Given the description of an element on the screen output the (x, y) to click on. 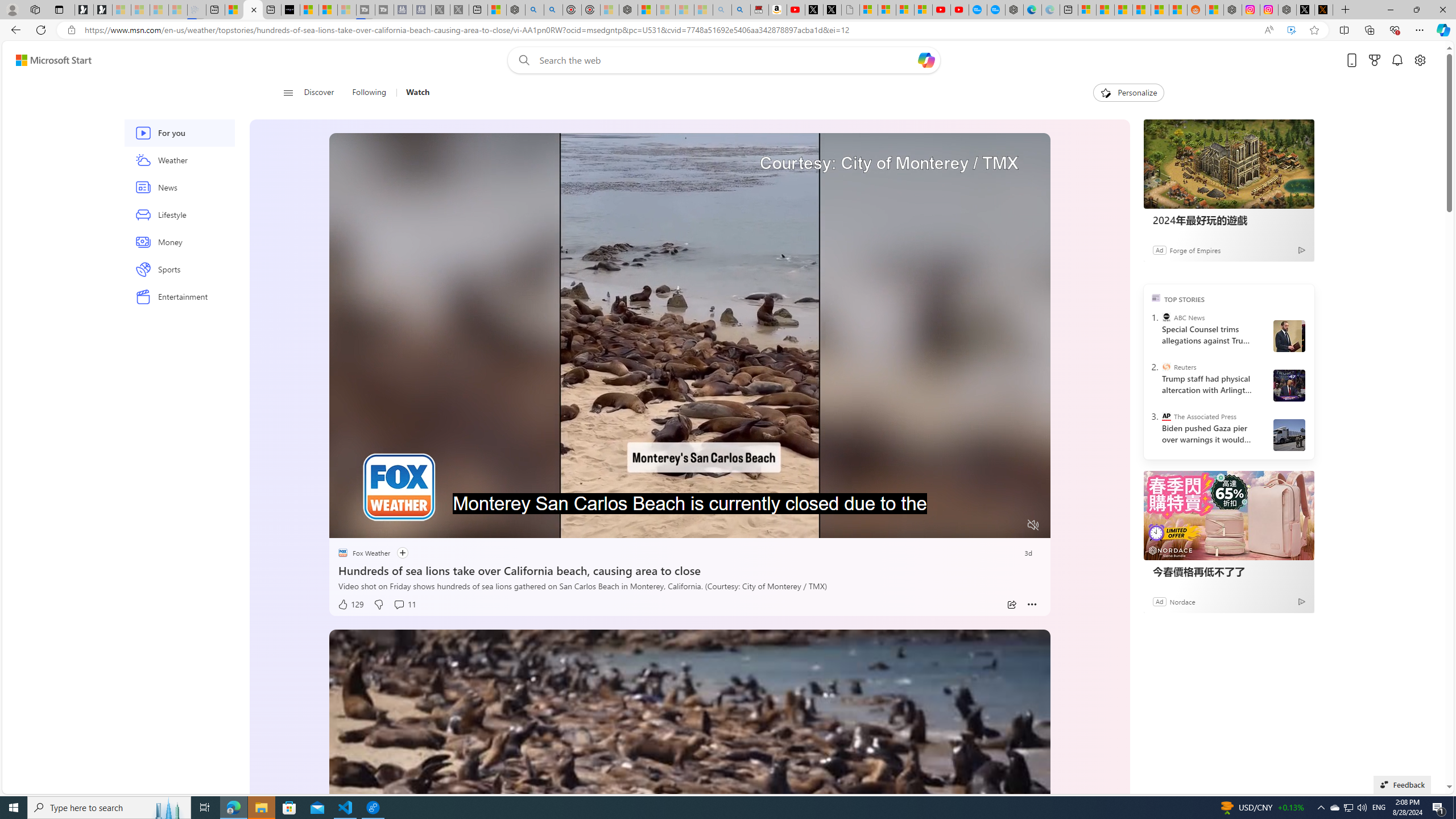
Share (1010, 604)
Personalize (1128, 92)
Shanghai, China hourly forecast | Microsoft Weather (1123, 9)
Enter your search term (726, 59)
Microsoft account | Microsoft Account Privacy Settings (1086, 9)
amazon - Search - Sleeping (721, 9)
The most popular Google 'how to' searches (996, 9)
Class: button-glyph (287, 92)
Nordace (@NordaceOfficial) / X (1305, 9)
Nordace - Nordace has arrived Hong Kong (1013, 9)
